Given the description of an element on the screen output the (x, y) to click on. 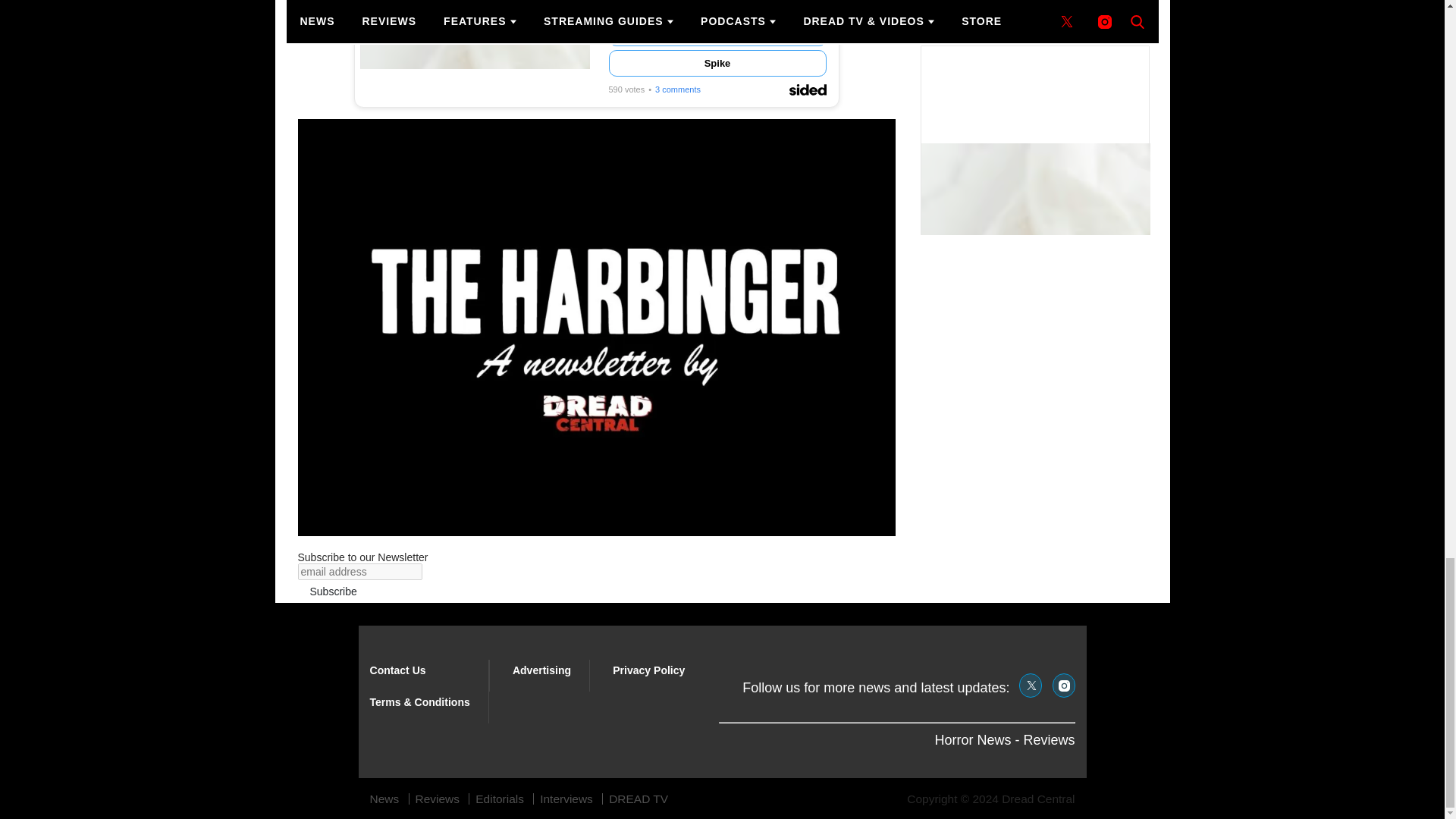
Subscribe (332, 590)
Follow us on Instagram (1063, 685)
Follow us on Twitter (1030, 685)
